Given the description of an element on the screen output the (x, y) to click on. 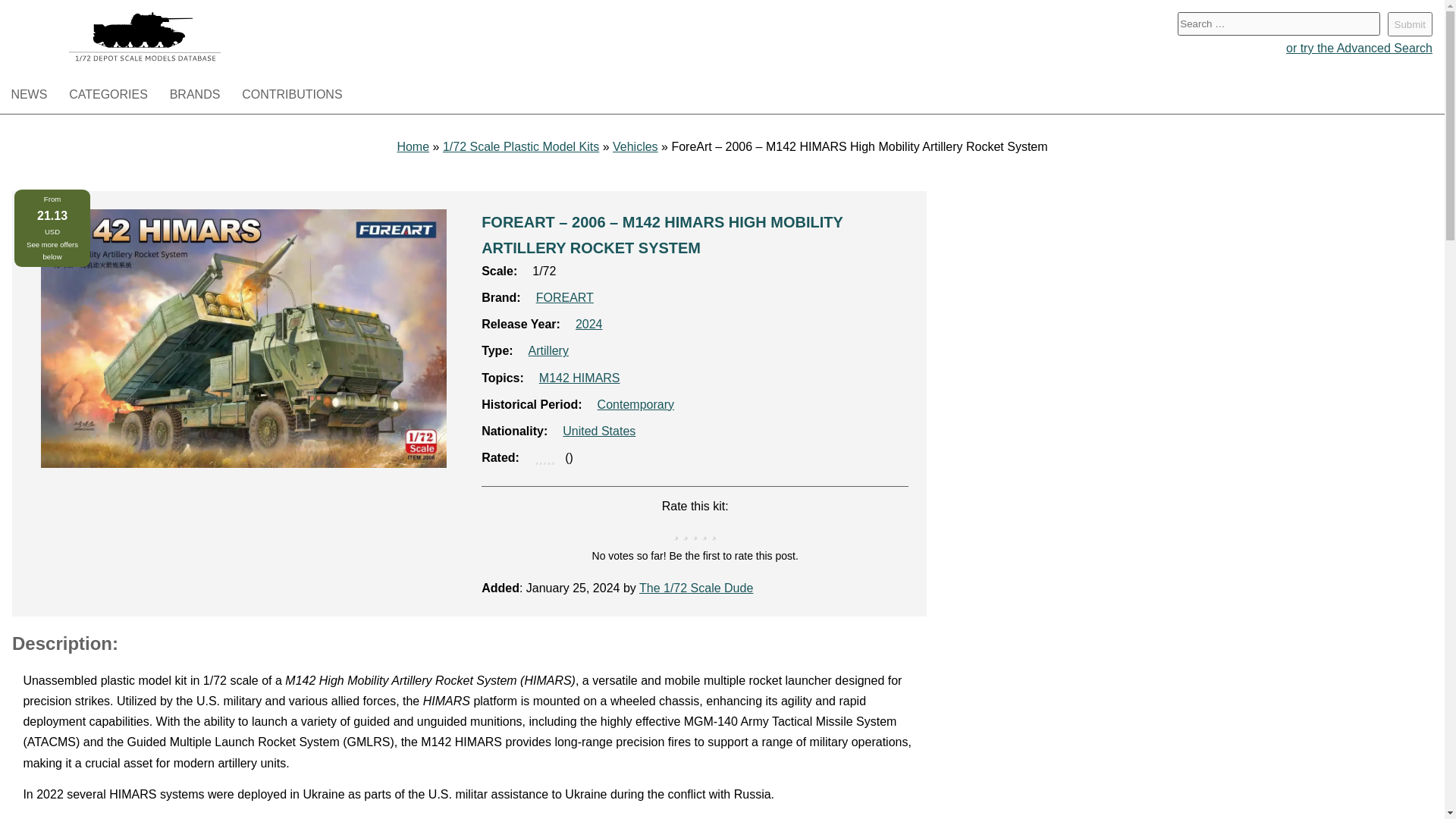
M142 HIMARS (579, 377)
Home (412, 146)
FOREART (564, 297)
BRANDS (194, 95)
United States (598, 431)
CATEGORIES (108, 95)
Artillery (548, 350)
Submit (1409, 24)
or try the Advanced Search (1358, 47)
2024 (588, 323)
January 25, 2024 (572, 587)
Submit (1409, 24)
NEWS (29, 95)
Vehicles (635, 146)
